Given the description of an element on the screen output the (x, y) to click on. 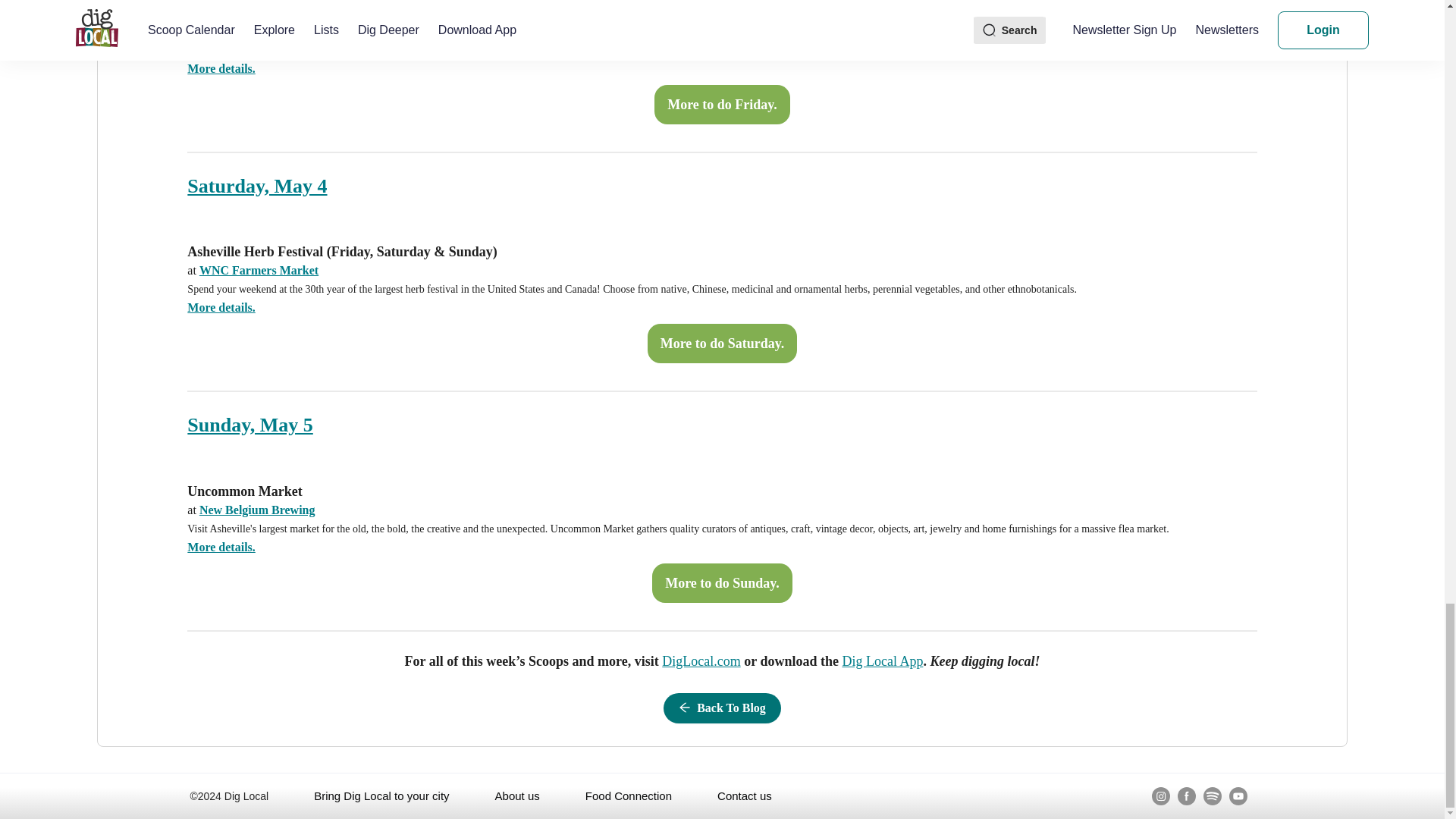
More to do Saturday. (722, 343)
More to do Sunday. (721, 582)
More to do Friday. (721, 104)
